Given the description of an element on the screen output the (x, y) to click on. 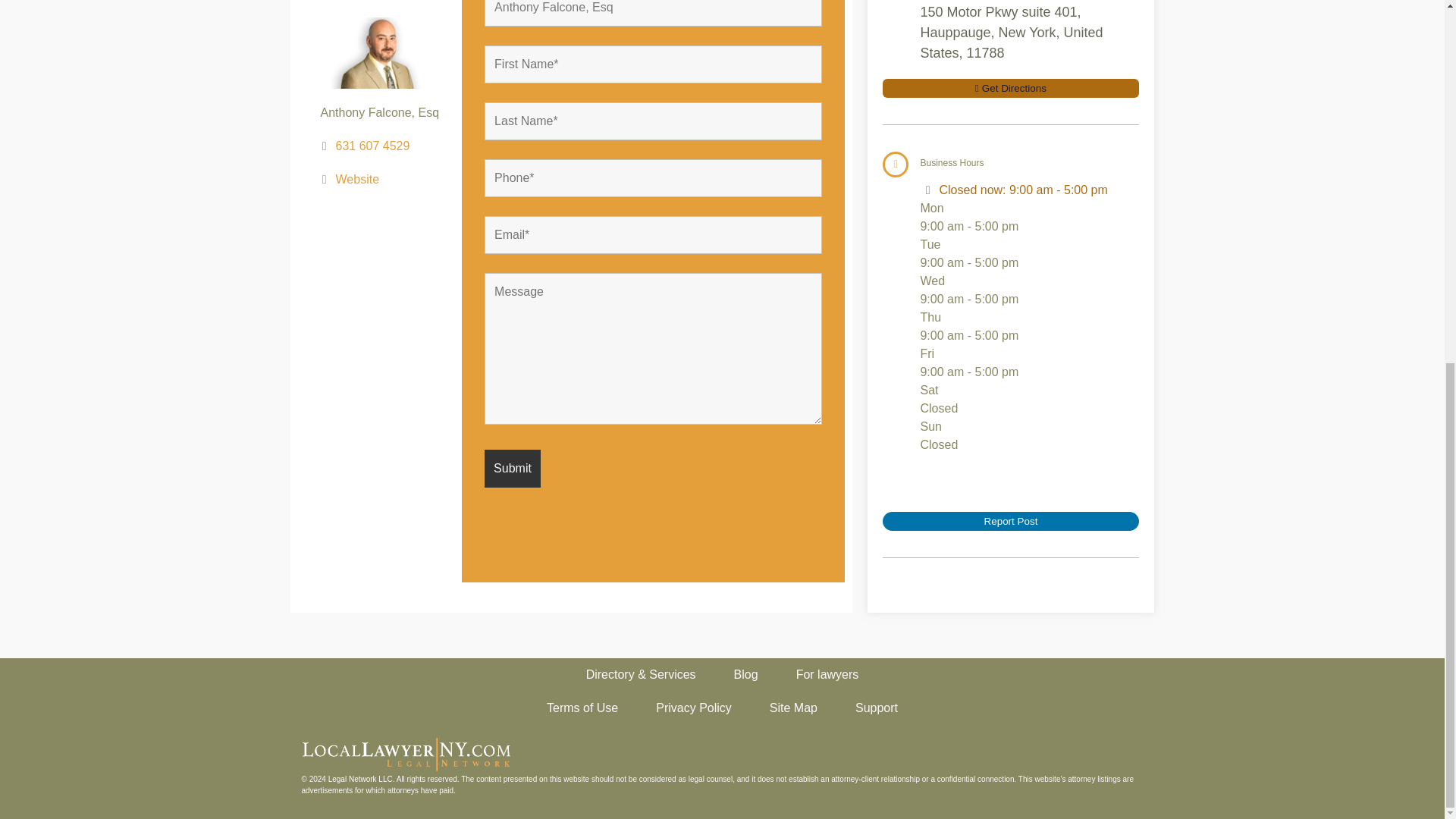
Submit (512, 468)
Submit (512, 485)
631 607 4529 (373, 171)
Website (358, 201)
Anthony Falcone, Esq (653, 13)
Expand opening hours (1058, 189)
